Given the description of an element on the screen output the (x, y) to click on. 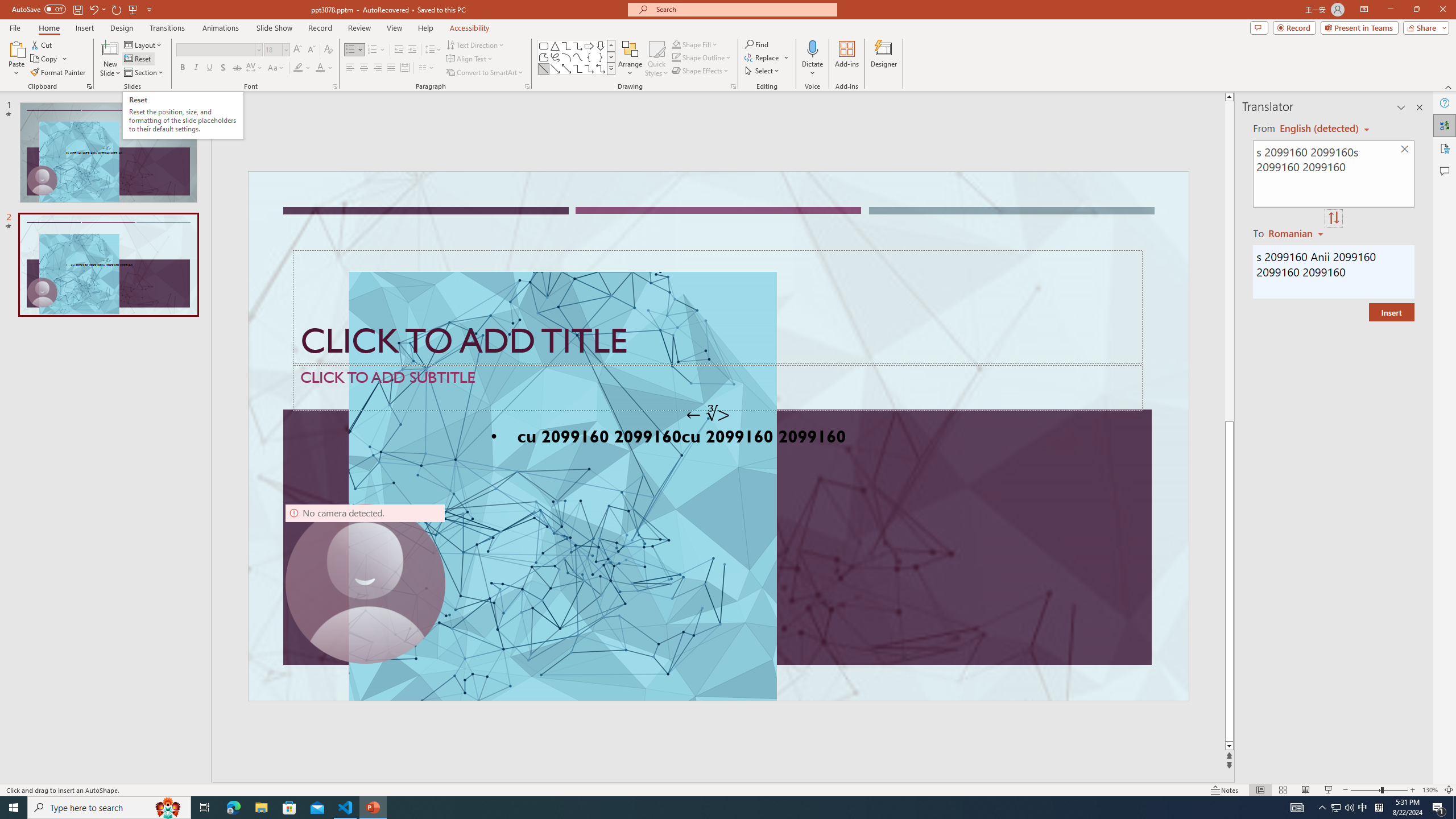
Bold (182, 67)
Paste (16, 48)
Connector: Elbow (577, 68)
